Given the description of an element on the screen output the (x, y) to click on. 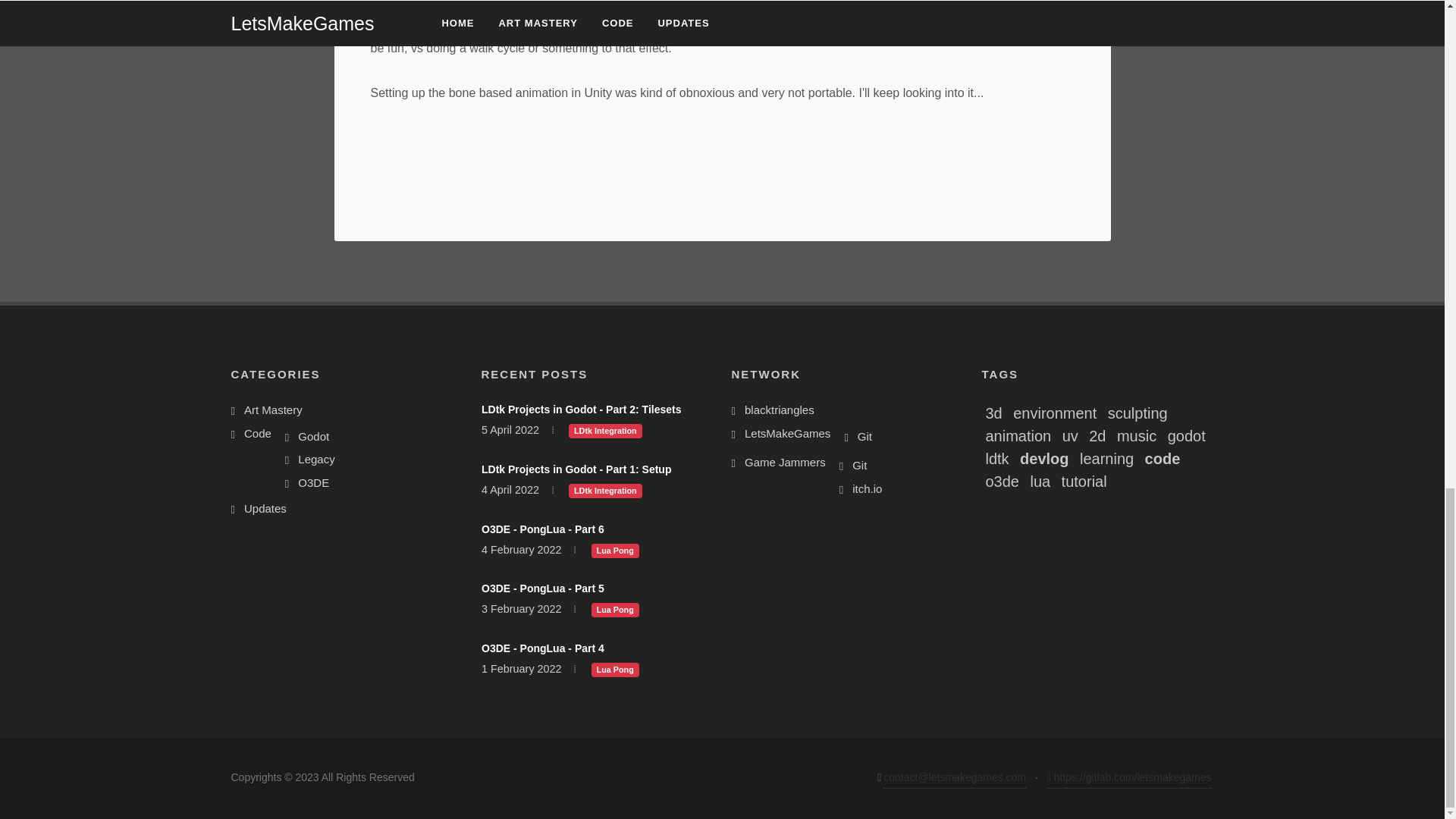
itch.io (863, 488)
godot (1186, 435)
O3DE (309, 483)
LDtk Integration (605, 490)
uv (1070, 435)
Updates (261, 508)
LDtk Projects in Godot - Part 2: Tilesets (579, 409)
Git (861, 436)
Legacy (312, 459)
LetsMakeGames (783, 436)
animation (1018, 435)
Lua Pong (615, 668)
Lua Pong (615, 549)
O3DE - PongLua - Part 6 (542, 529)
O3DE - PongLua - Part 5 (542, 588)
